Given the description of an element on the screen output the (x, y) to click on. 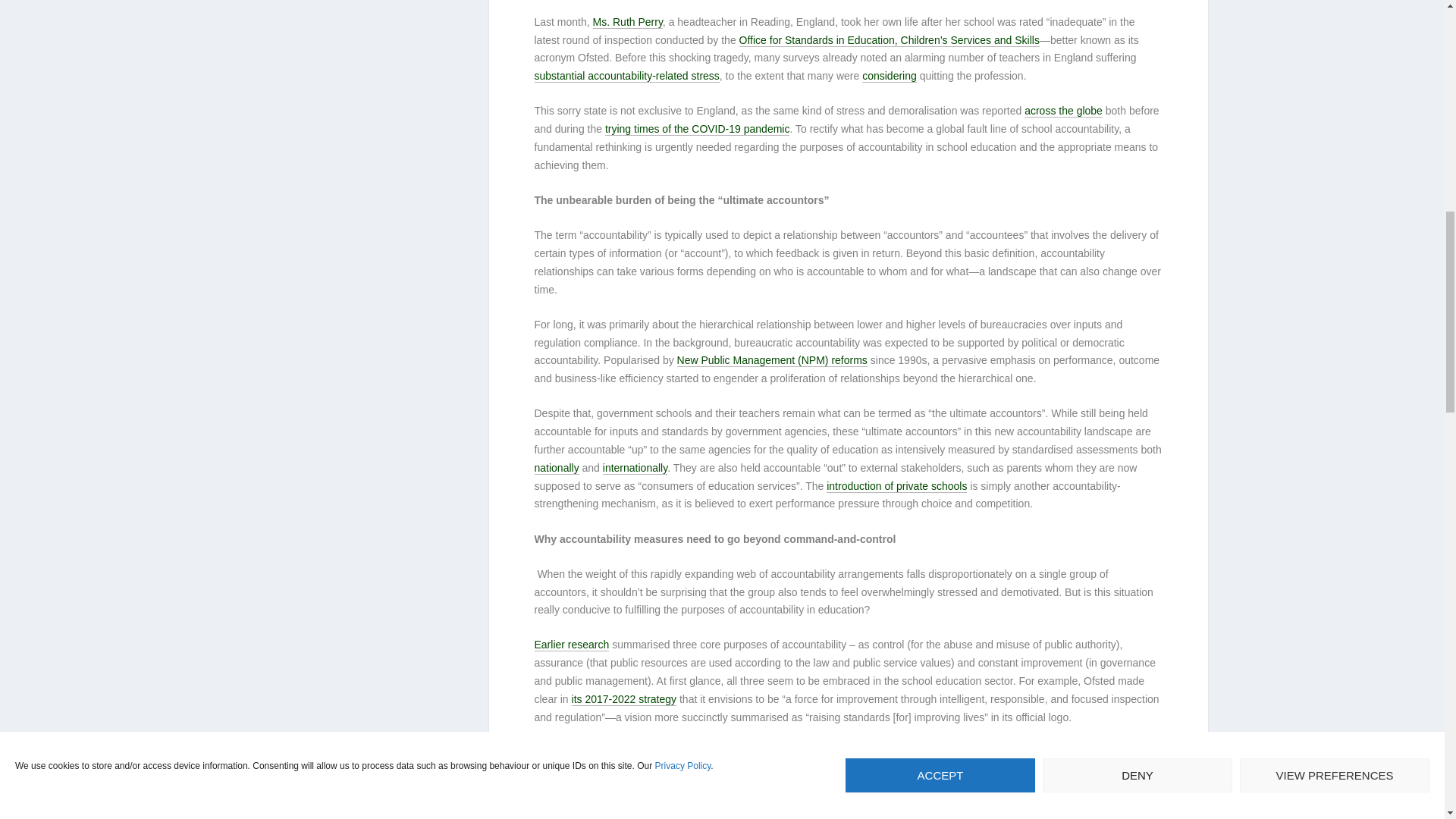
Ms. Ruth Perry (627, 21)
considering (889, 75)
substantial accountability-related stress (626, 75)
